Given the description of an element on the screen output the (x, y) to click on. 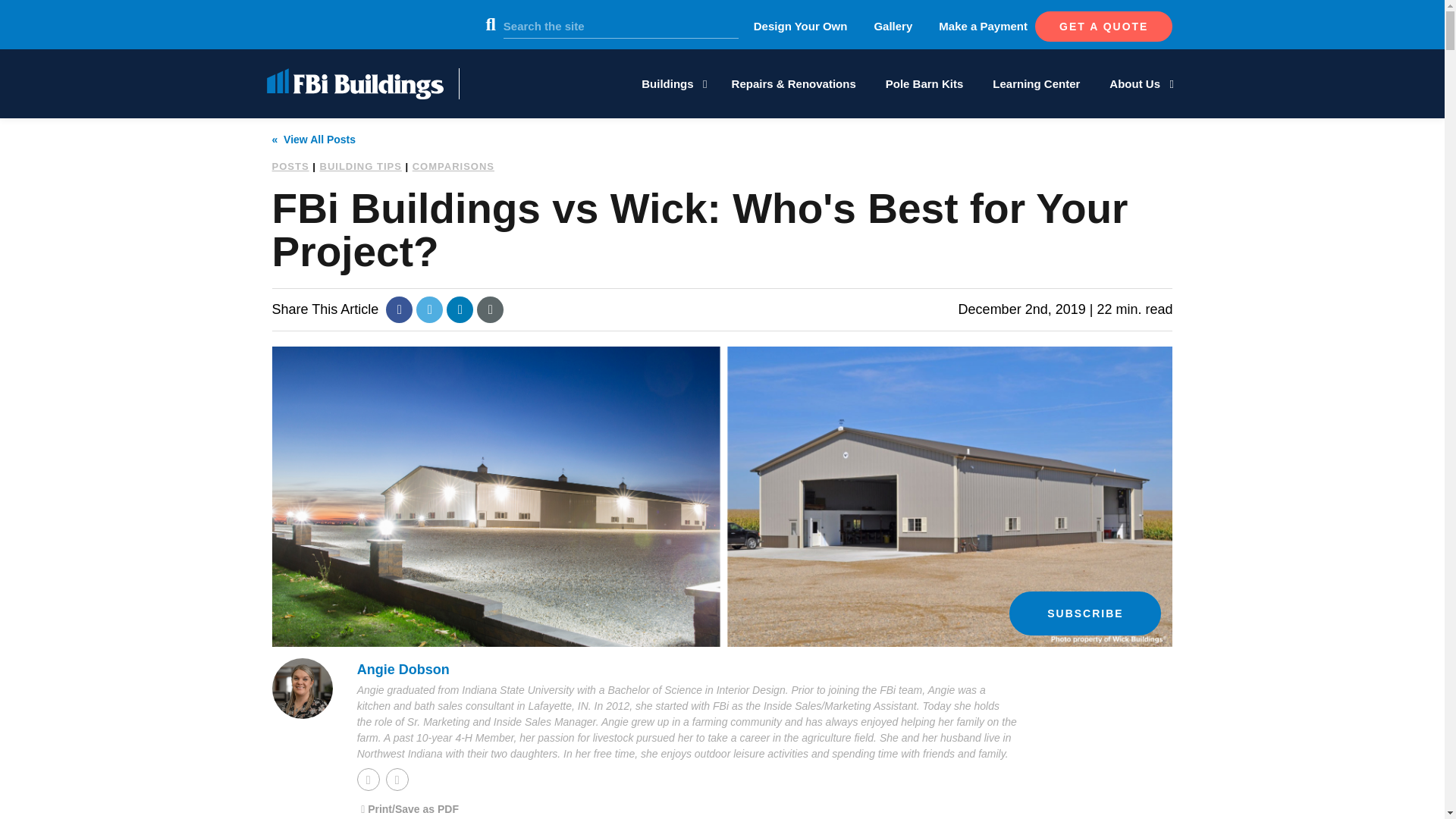
Share on Linkedin (459, 309)
Share on Twitter (429, 309)
Angie Dobson (302, 688)
Gallery (892, 26)
Share via Email (490, 309)
Buildings (670, 83)
Share on Facebook (398, 309)
Design Your Own (800, 26)
Make a Payment (983, 26)
GET A QUOTE (1103, 26)
Learning Center (1036, 83)
About Us (1138, 83)
Pole Barn Kits (924, 83)
